Given the description of an element on the screen output the (x, y) to click on. 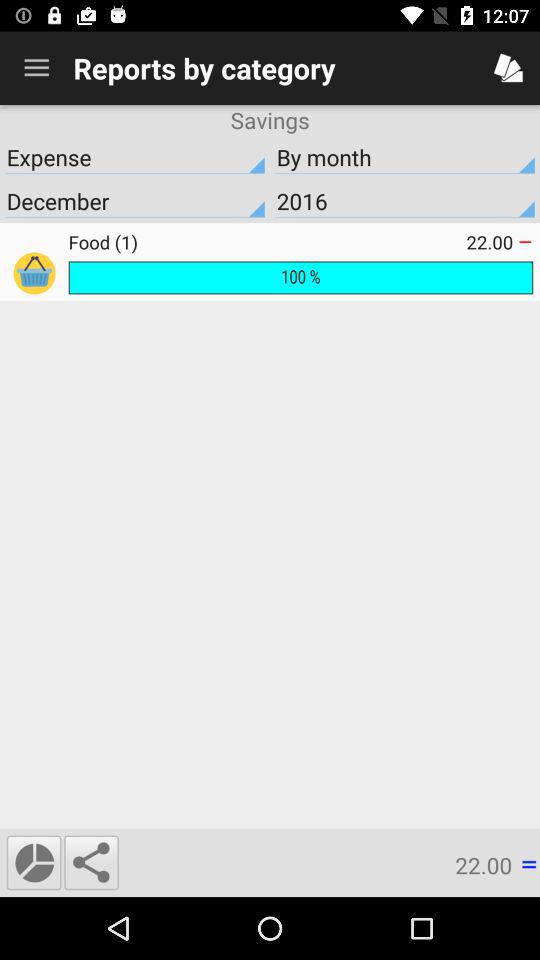
share this expense (91, 862)
